Given the description of an element on the screen output the (x, y) to click on. 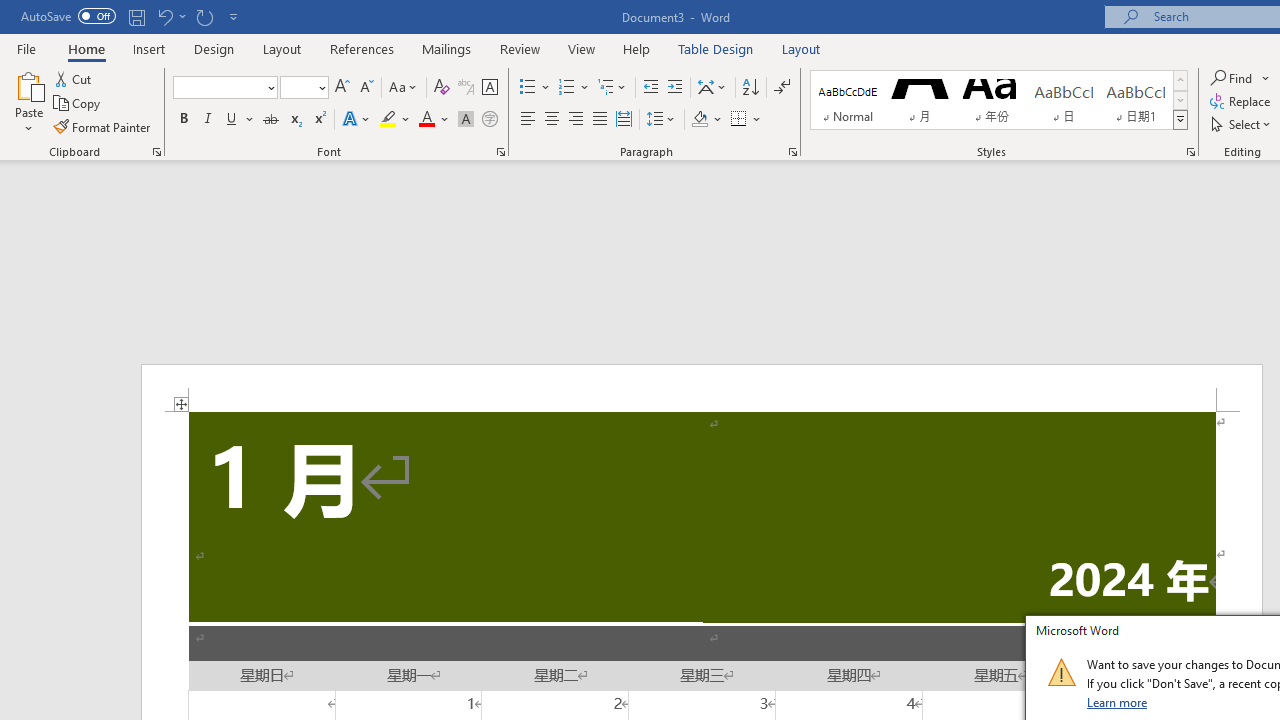
Multilevel List (613, 87)
Text Highlight Color Yellow (388, 119)
Asian Layout (712, 87)
Undo Distribute Para (164, 15)
Change Case (404, 87)
Superscript (319, 119)
